Given the description of an element on the screen output the (x, y) to click on. 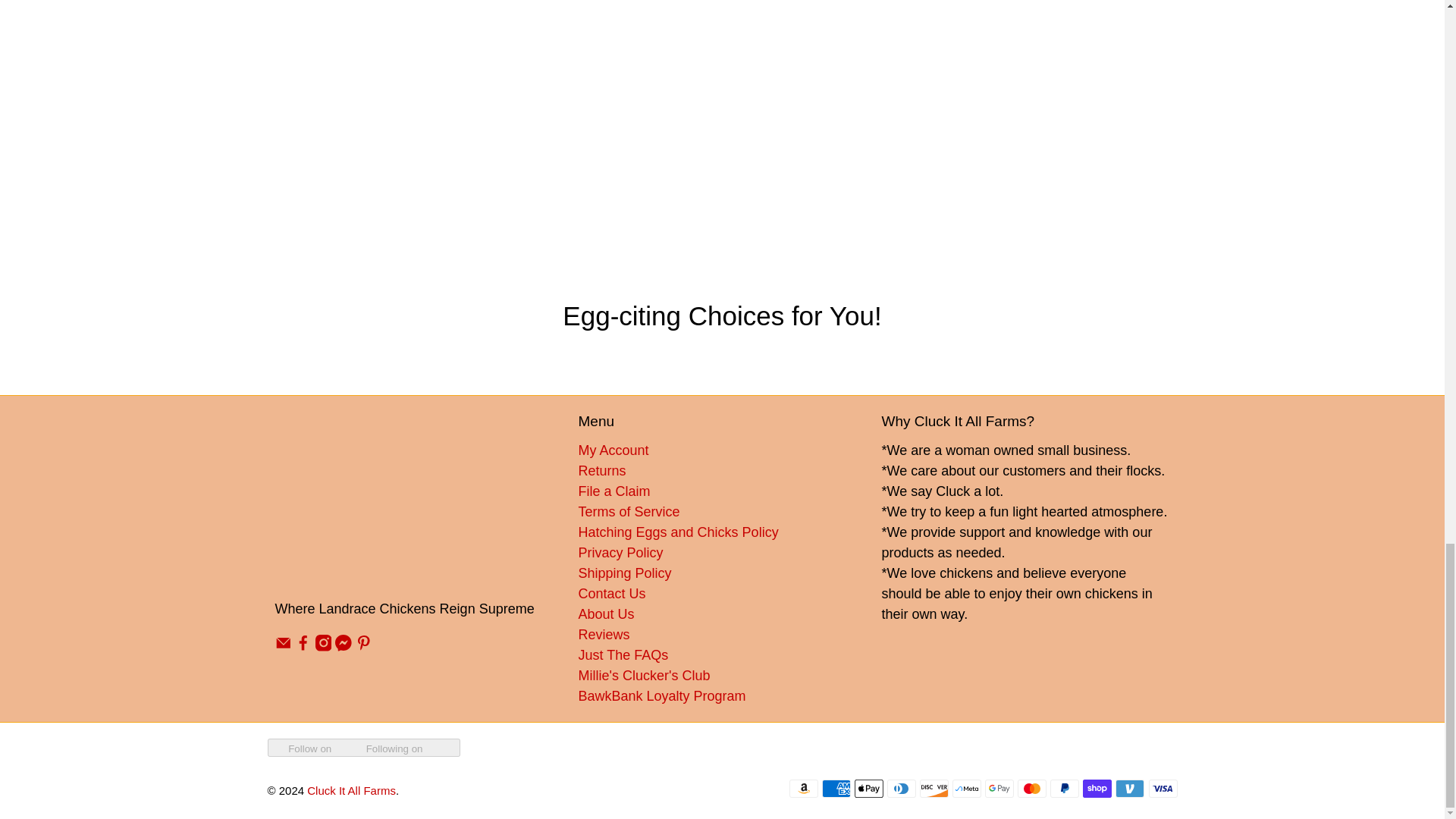
Amazon (803, 788)
Diners Club (900, 788)
Discover (934, 788)
American Express (836, 788)
Apple Pay (868, 788)
Cluck It All Farms on Messenger (343, 646)
Cluck It All Farms on Instagram (323, 646)
Cluck It All Farms on Pinterest (363, 646)
Cluck It All Farms on Facebook (303, 646)
Meta Pay (966, 788)
